Given the description of an element on the screen output the (x, y) to click on. 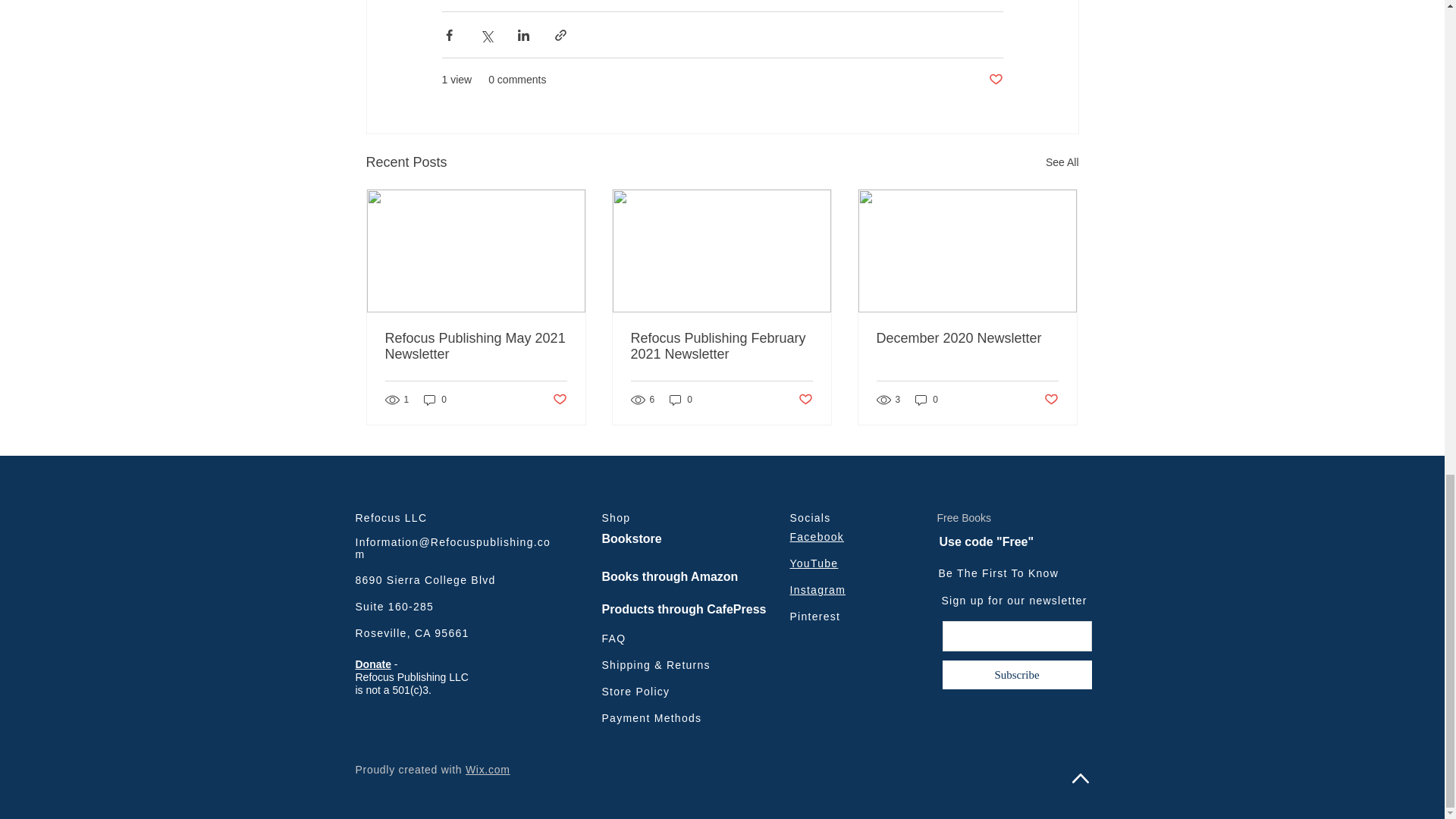
FAQ (614, 638)
Refocus Publishing May 2021 Newsletter (476, 346)
Bookstore (670, 539)
0 (681, 400)
Post not marked as liked (995, 79)
0 (435, 400)
Post not marked as liked (1050, 399)
Post not marked as liked (558, 399)
See All (1061, 162)
December 2020 Newsletter (967, 338)
